Given the description of an element on the screen output the (x, y) to click on. 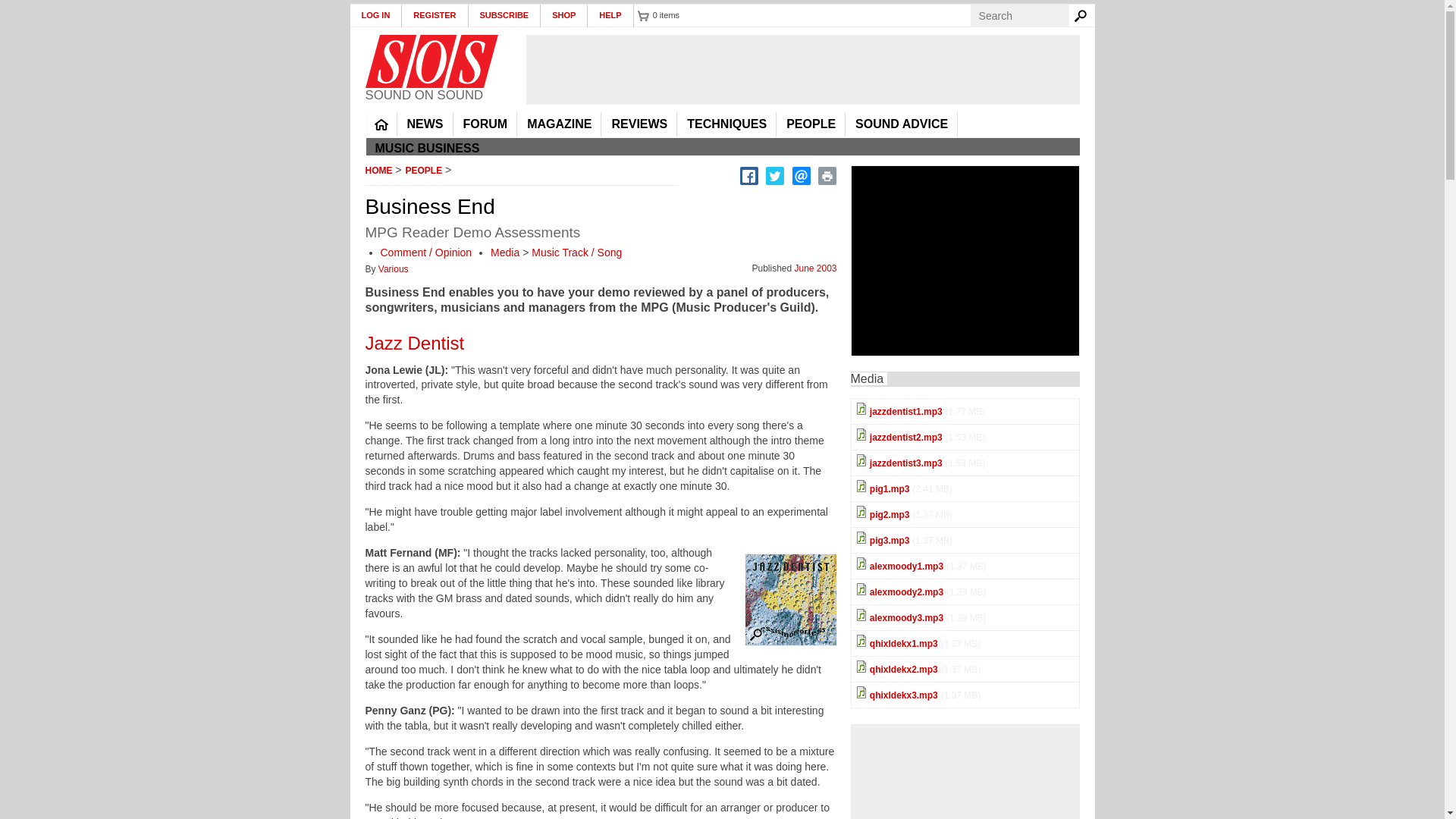
REGISTER (434, 15)
MAGAZINE (558, 124)
SUBSCRIBE (504, 15)
LOG IN (376, 15)
HELP (610, 15)
Search (1082, 15)
SHOP (564, 15)
NEWS (424, 124)
HOME (380, 124)
